Given the description of an element on the screen output the (x, y) to click on. 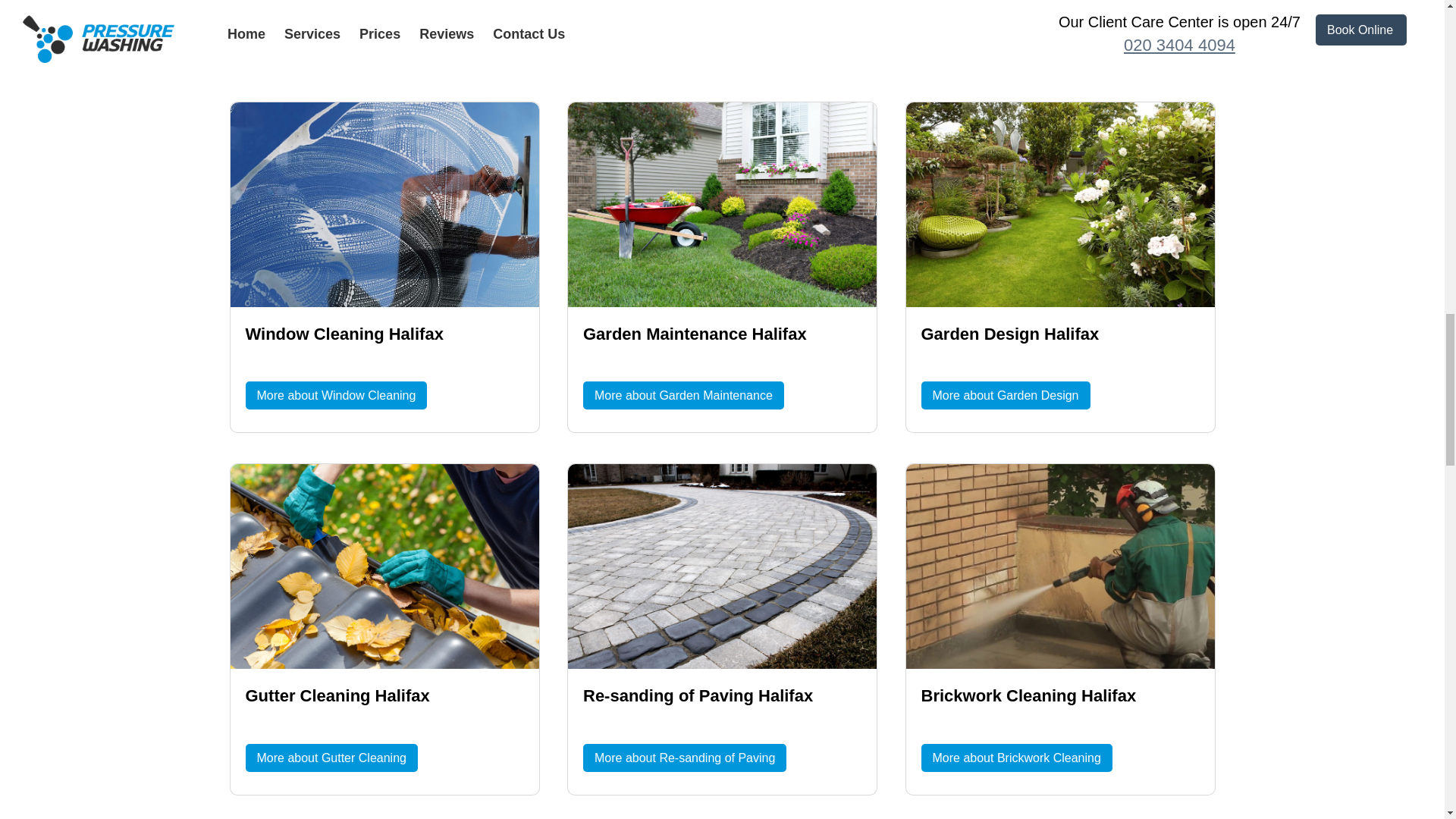
More about Brickwork Cleaning (1016, 757)
More about Garden Maintenance (683, 395)
More about Garden Design (1004, 395)
More about Window Cleaning (337, 395)
More about Re-sanding of Paving (684, 757)
More about Gutter Cleaning (331, 757)
